Given the description of an element on the screen output the (x, y) to click on. 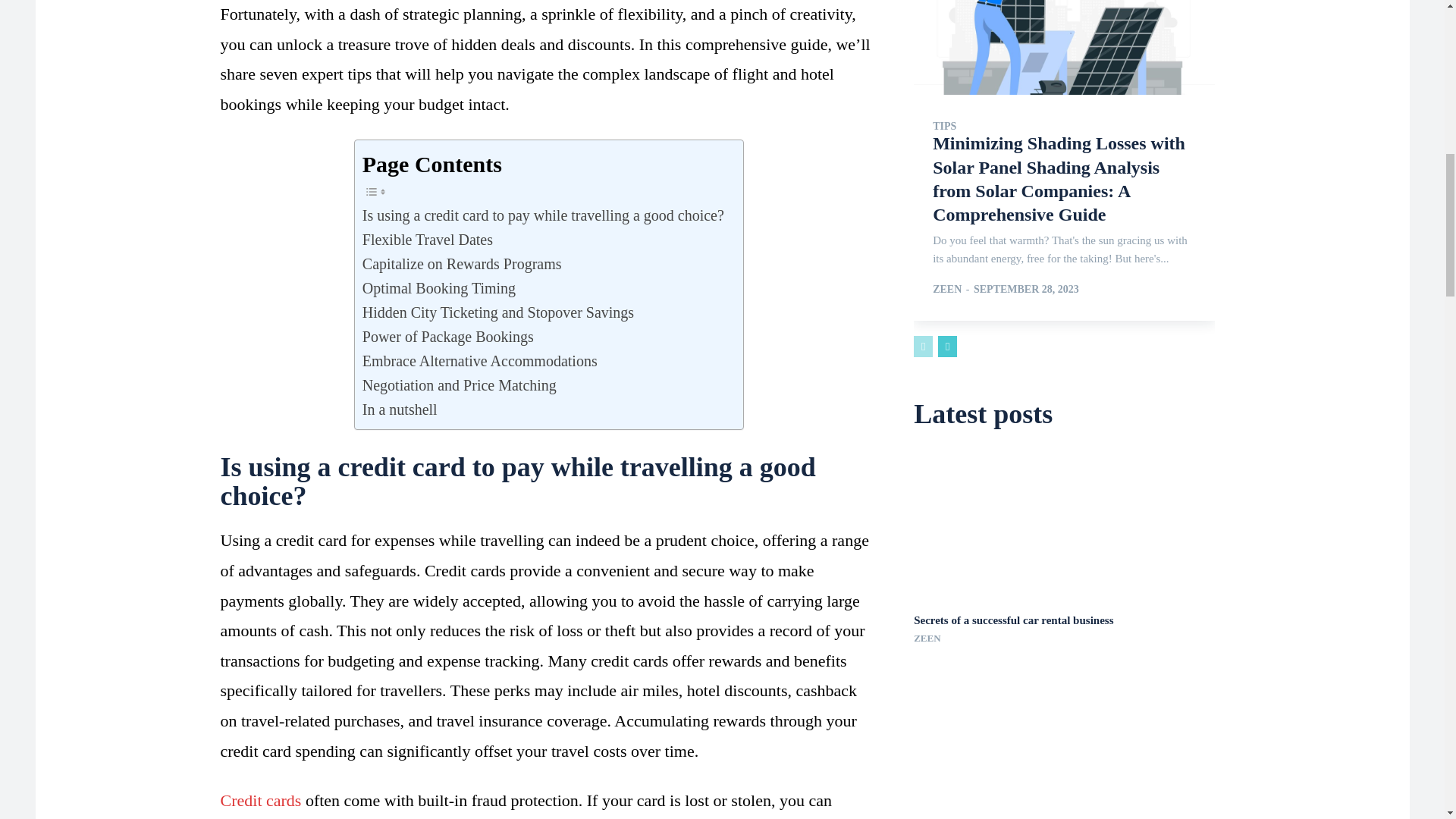
Power of Package Bookings (448, 336)
Embrace Alternative Accommodations (479, 360)
Capitalize on Rewards Programs (462, 263)
Optimal Booking Timing (438, 288)
Negotiation and Price Matching (459, 385)
Flexible Travel Dates (427, 239)
